Given the description of an element on the screen output the (x, y) to click on. 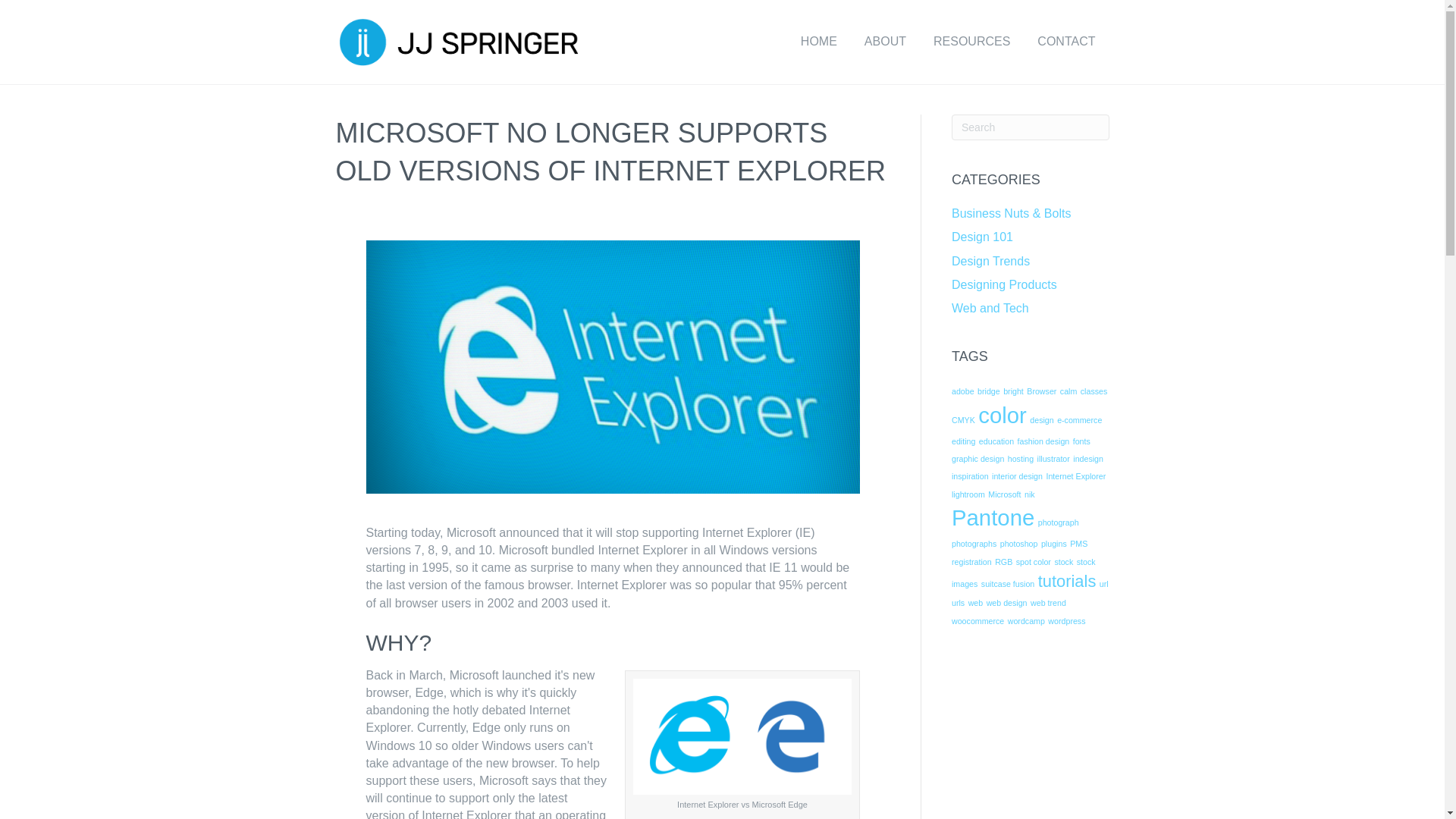
RESOURCES (971, 41)
Designing Products (1004, 284)
ABOUT (885, 41)
HOME (818, 41)
Design Trends (990, 260)
IEthumb (612, 366)
CONTACT (1065, 41)
Design 101 (982, 236)
